Given the description of an element on the screen output the (x, y) to click on. 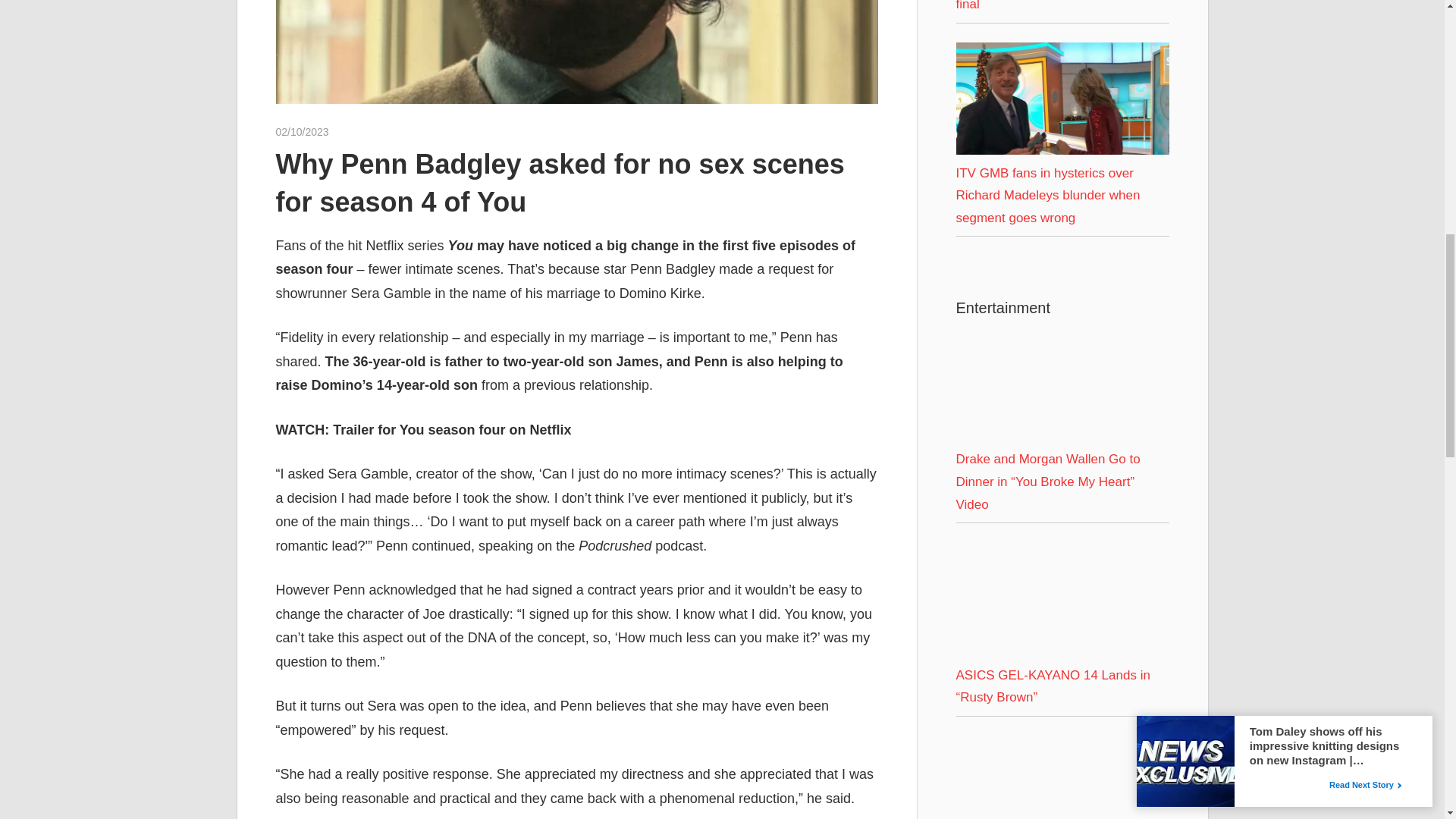
23:37 (302, 132)
